Given the description of an element on the screen output the (x, y) to click on. 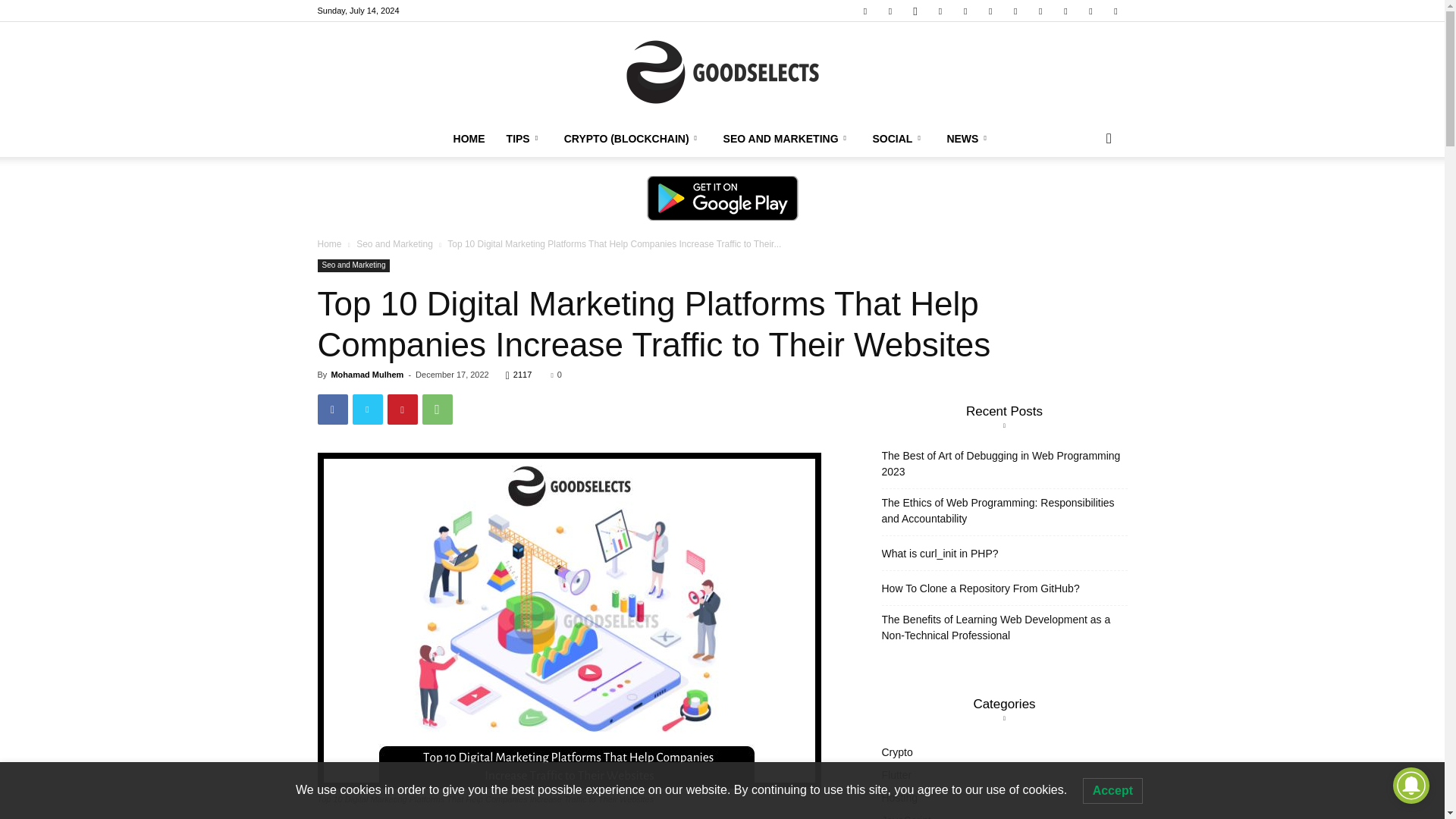
Blogger (864, 10)
Facebook (890, 10)
Pinterest (940, 10)
Instagram (915, 10)
